Given the description of an element on the screen output the (x, y) to click on. 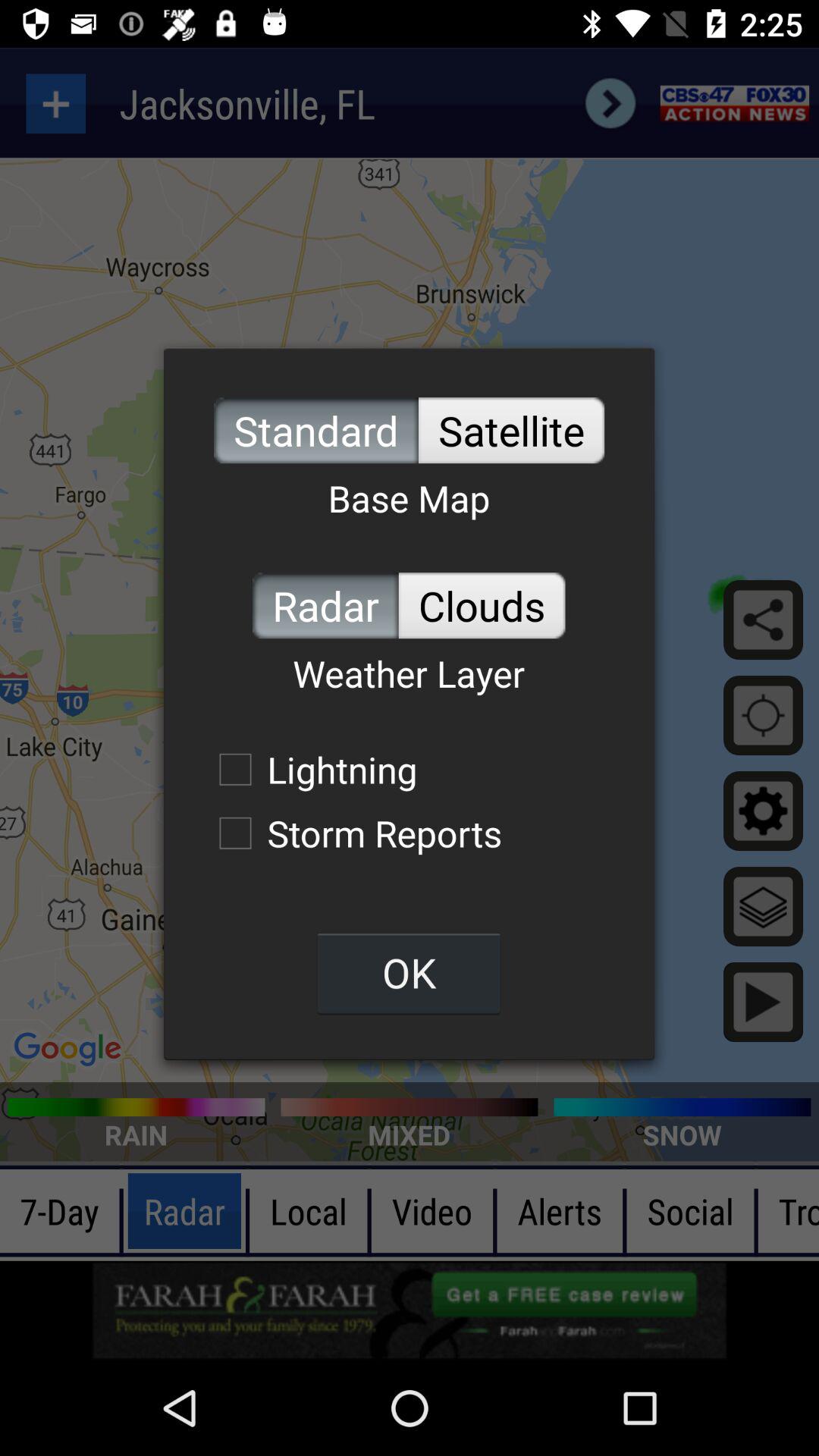
select item below the weather layer item (310, 769)
